Given the description of an element on the screen output the (x, y) to click on. 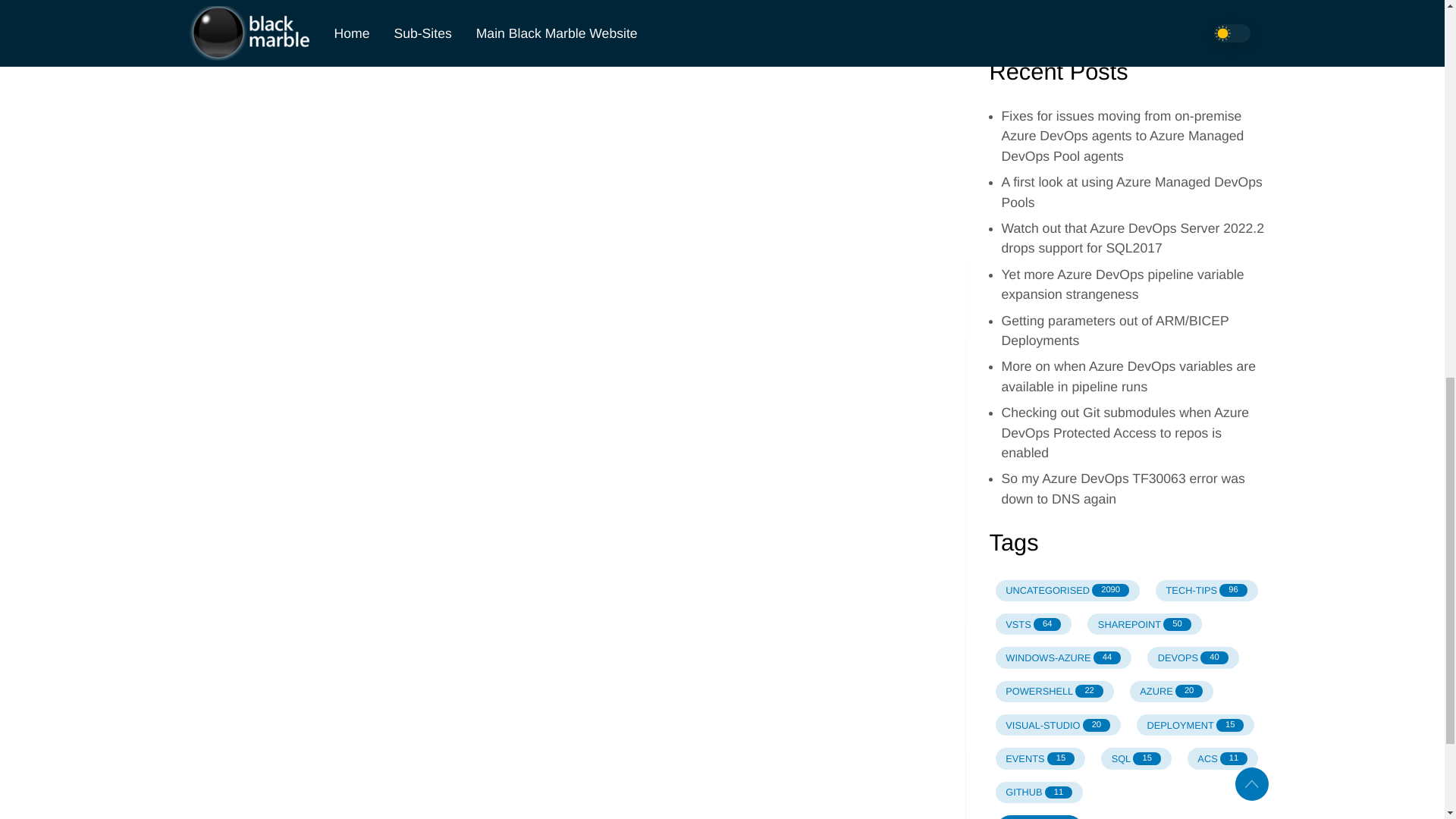
READING (1032, 26)
So my Azure DevOps TF30063 error was down to DNS again (1171, 690)
reading (1066, 590)
projects (1195, 724)
